Given the description of an element on the screen output the (x, y) to click on. 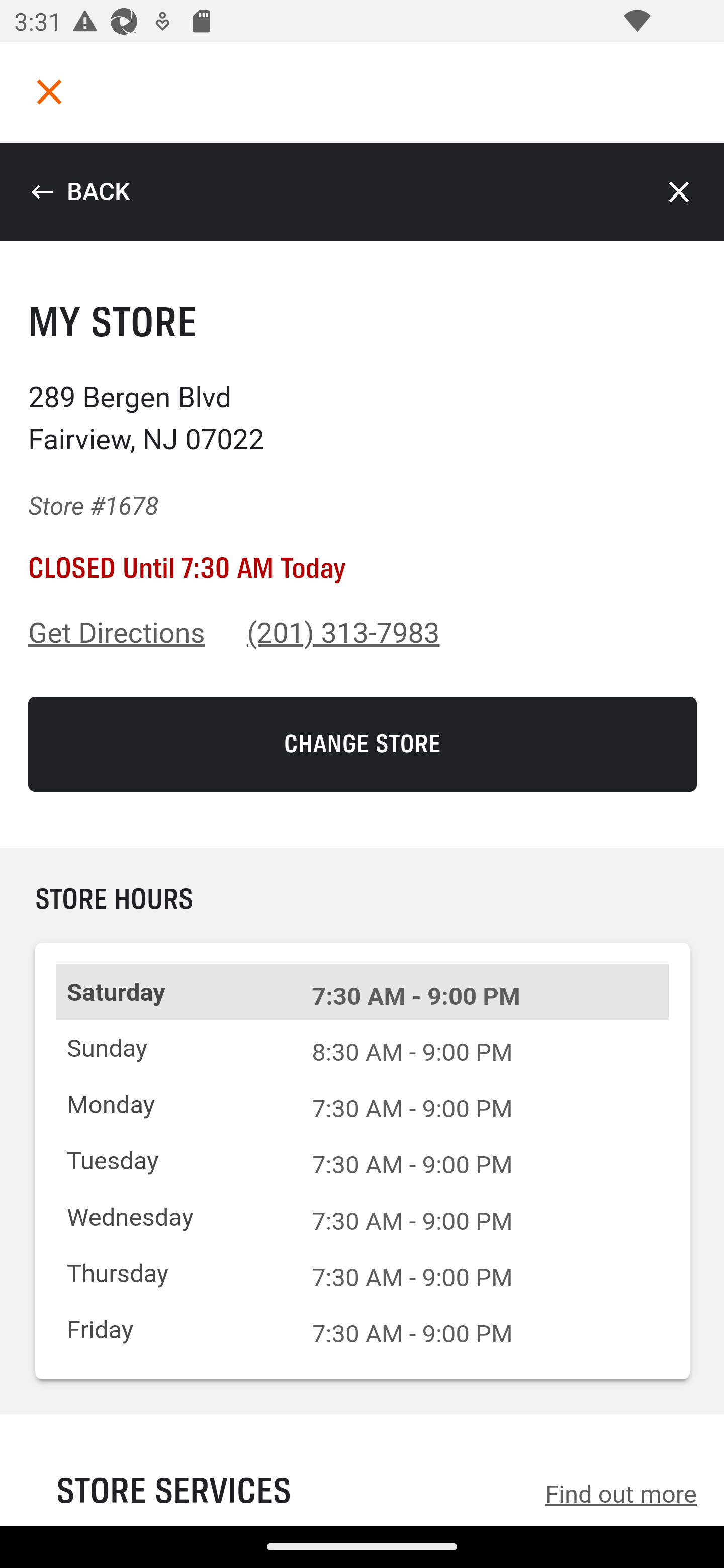
 (49, 91)
BACK (79, 192)
Close (679, 192)
Batteries Batteries Batteries (362, 450)
Engine Oil Engine Oil Engine Oil (362, 521)
Brake Pads Brake Pads Brake Pads (362, 594)
(201) 313-7983 (343, 633)
CHANGE STORE (363, 743)
Close icon Get the AutoZone App OPEN (362, 1456)
